Given the description of an element on the screen output the (x, y) to click on. 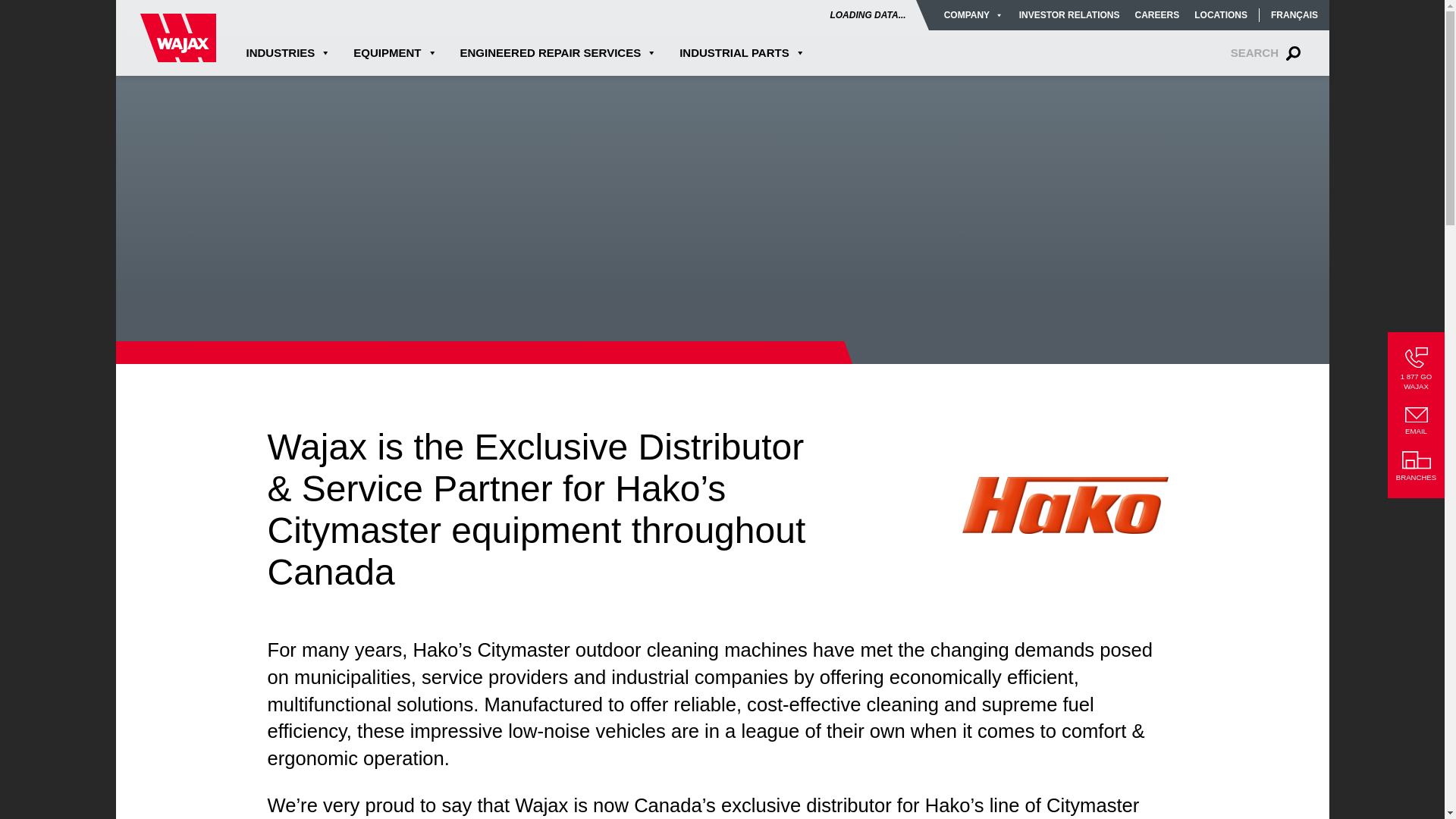
Search (1260, 52)
INVESTOR RELATIONS (1068, 14)
COMPANY (976, 14)
INDUSTRIES (294, 52)
LOCATIONS (1220, 14)
CAREERS (1156, 14)
EQUIPMENT (395, 52)
